Given the description of an element on the screen output the (x, y) to click on. 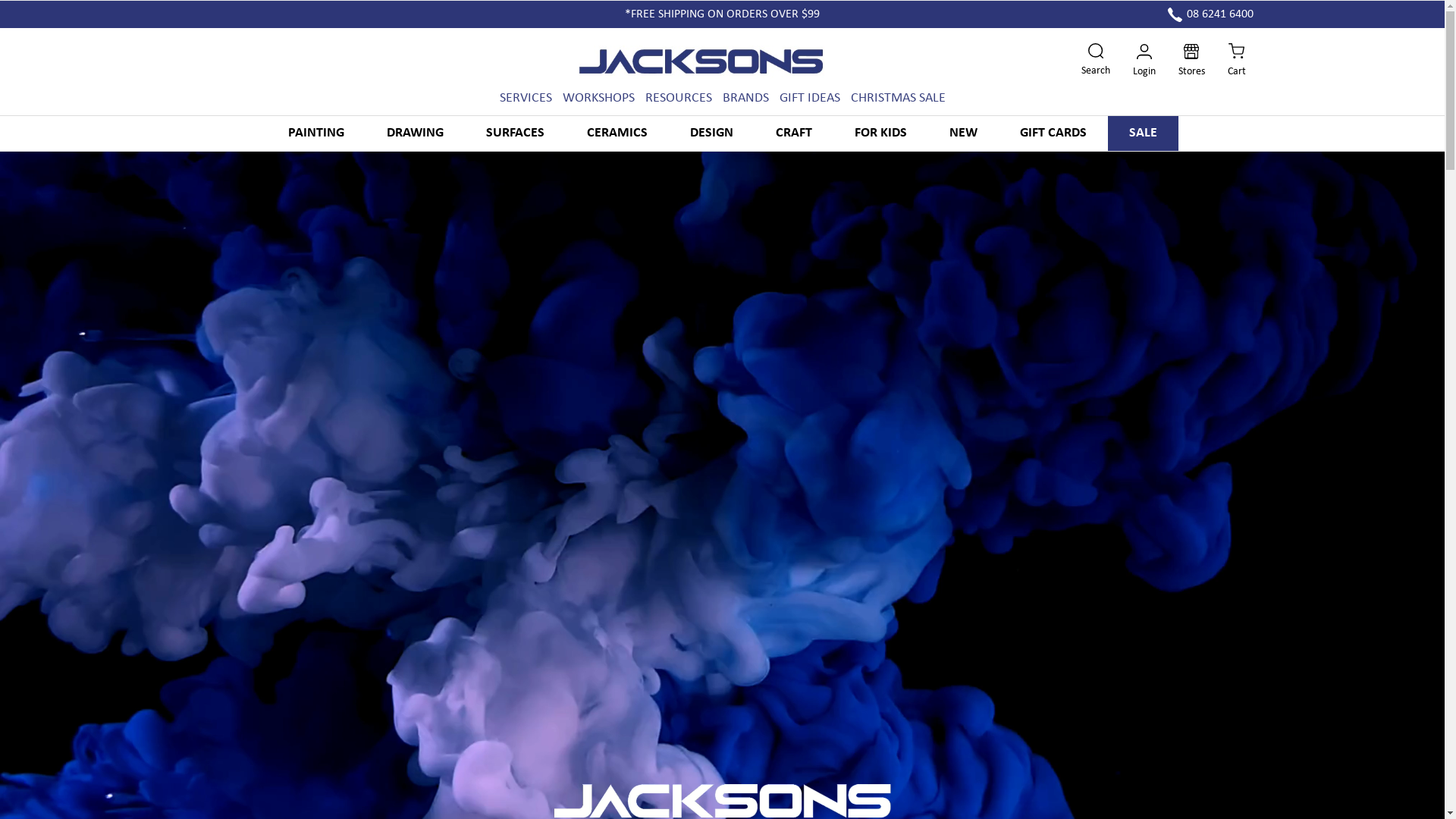
WORKSHOPS Element type: text (598, 98)
Jacksons Drawing Supplies Element type: hover (704, 61)
RESOURCES Element type: text (677, 98)
DESIGN Element type: text (711, 133)
GIFT IDEAS Element type: text (809, 98)
SURFACES Element type: text (514, 133)
BRANDS Element type: text (744, 98)
Stores Element type: text (1191, 61)
SALE Element type: text (1142, 133)
SERVICES Element type: text (524, 98)
CRAFT Element type: text (792, 133)
PAINTING Element type: text (315, 133)
NEW Element type: text (963, 133)
DRAWING Element type: text (414, 133)
CHRISTMAS SALE Element type: text (897, 98)
FOR KIDS Element type: text (879, 133)
Cart Element type: text (1235, 61)
 08 6241 6400 Element type: text (1210, 14)
*FREE SHIPPING ON ORDERS OVER $99 Element type: text (721, 14)
GIFT CARDS Element type: text (1052, 133)
CERAMICS Element type: text (616, 133)
